Given the description of an element on the screen output the (x, y) to click on. 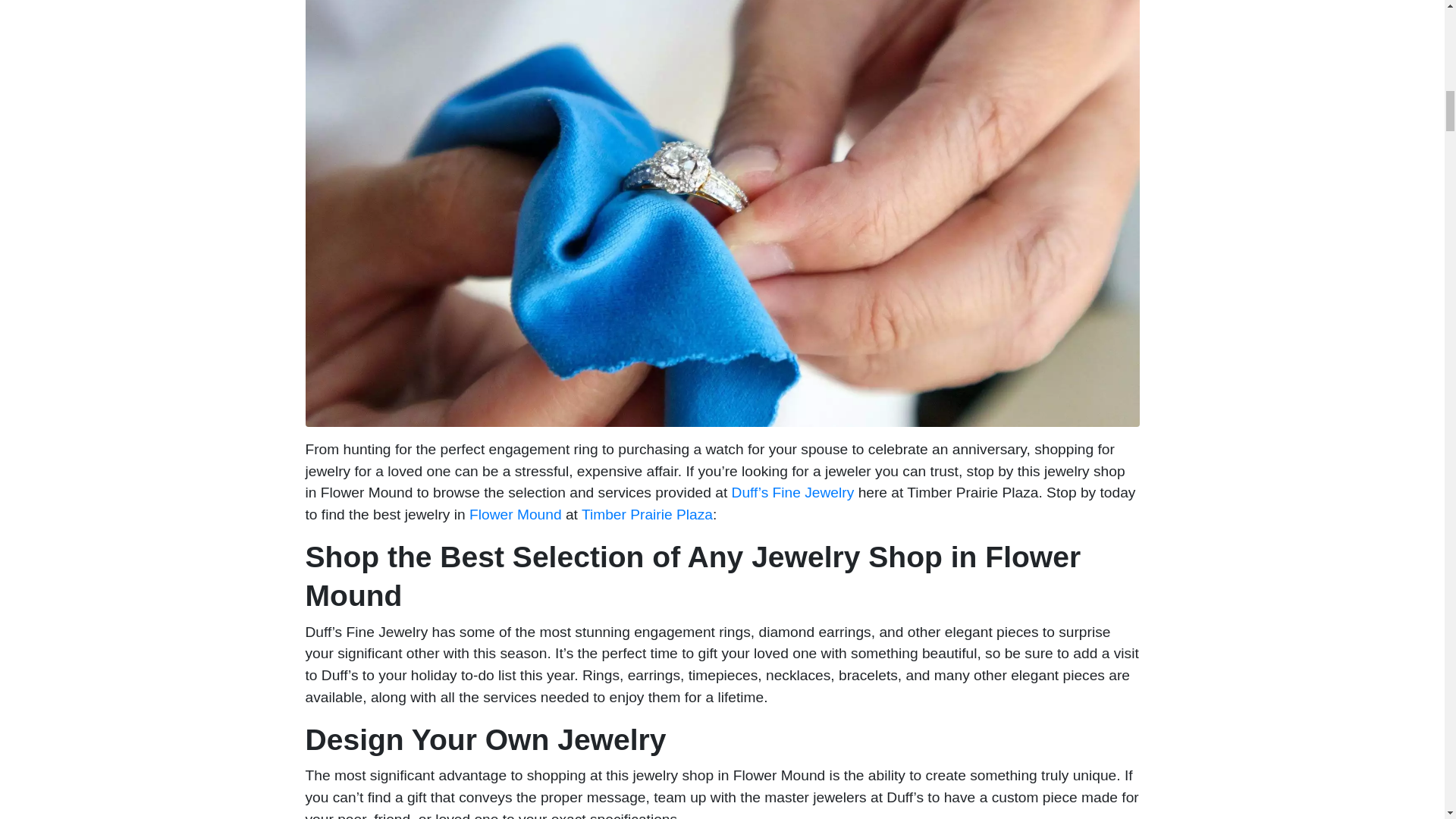
Flower Mound (515, 514)
Timber Prairie Plaza (646, 514)
